Given the description of an element on the screen output the (x, y) to click on. 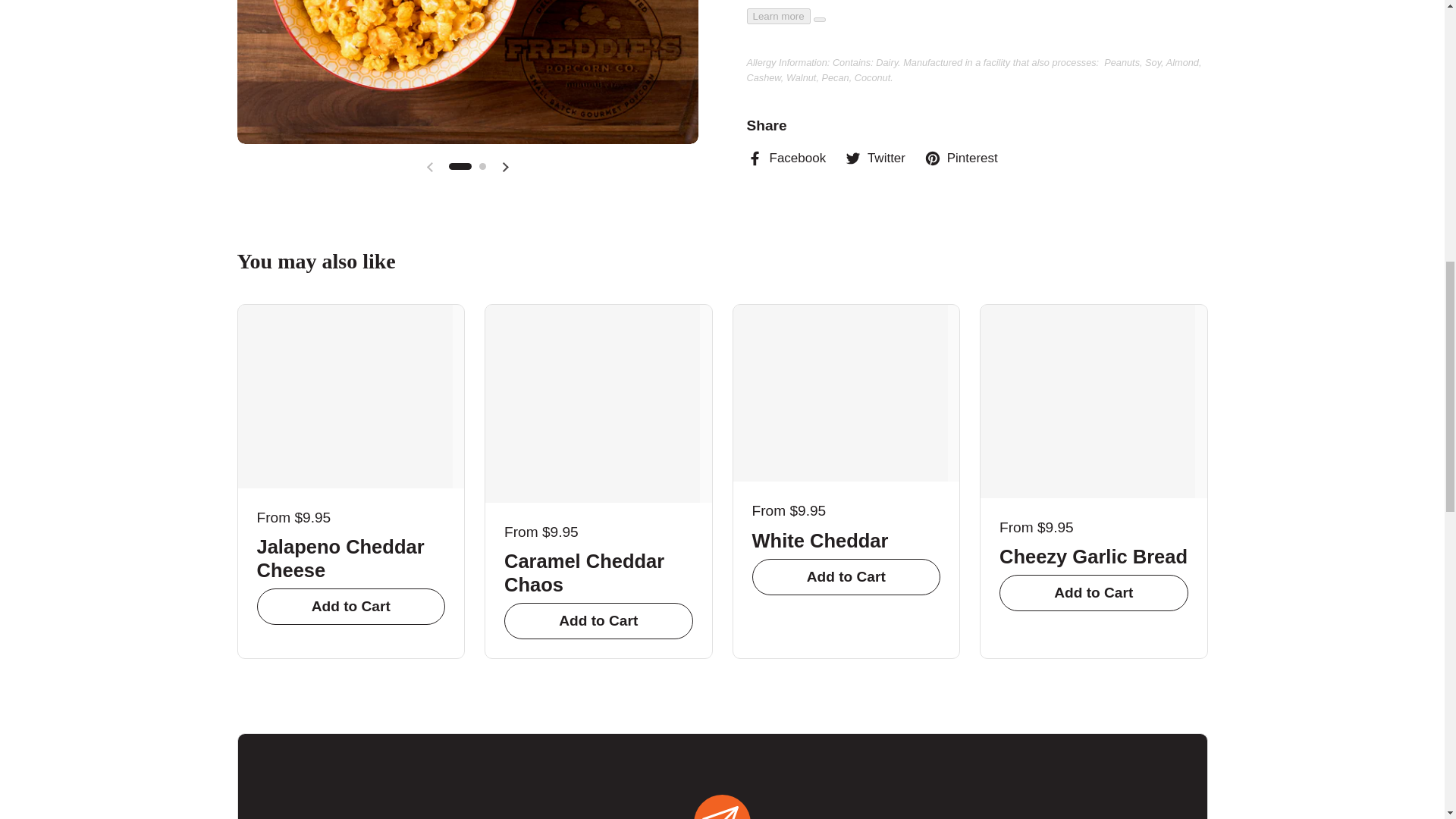
Jalapeno Cheddar Cheese (350, 559)
White Cheddar (846, 541)
Share on pinterest (960, 158)
Caramel Cheddar Chaos (598, 573)
Cheezy Garlic Bread (1093, 557)
Share on facebook (785, 158)
Share on twitter (874, 158)
